Given the description of an element on the screen output the (x, y) to click on. 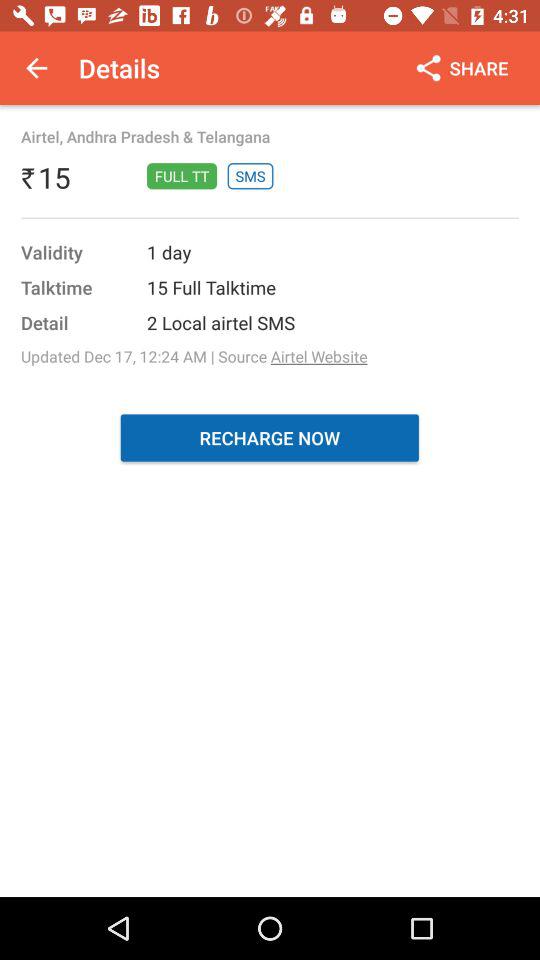
turn off recharge now (269, 437)
